Given the description of an element on the screen output the (x, y) to click on. 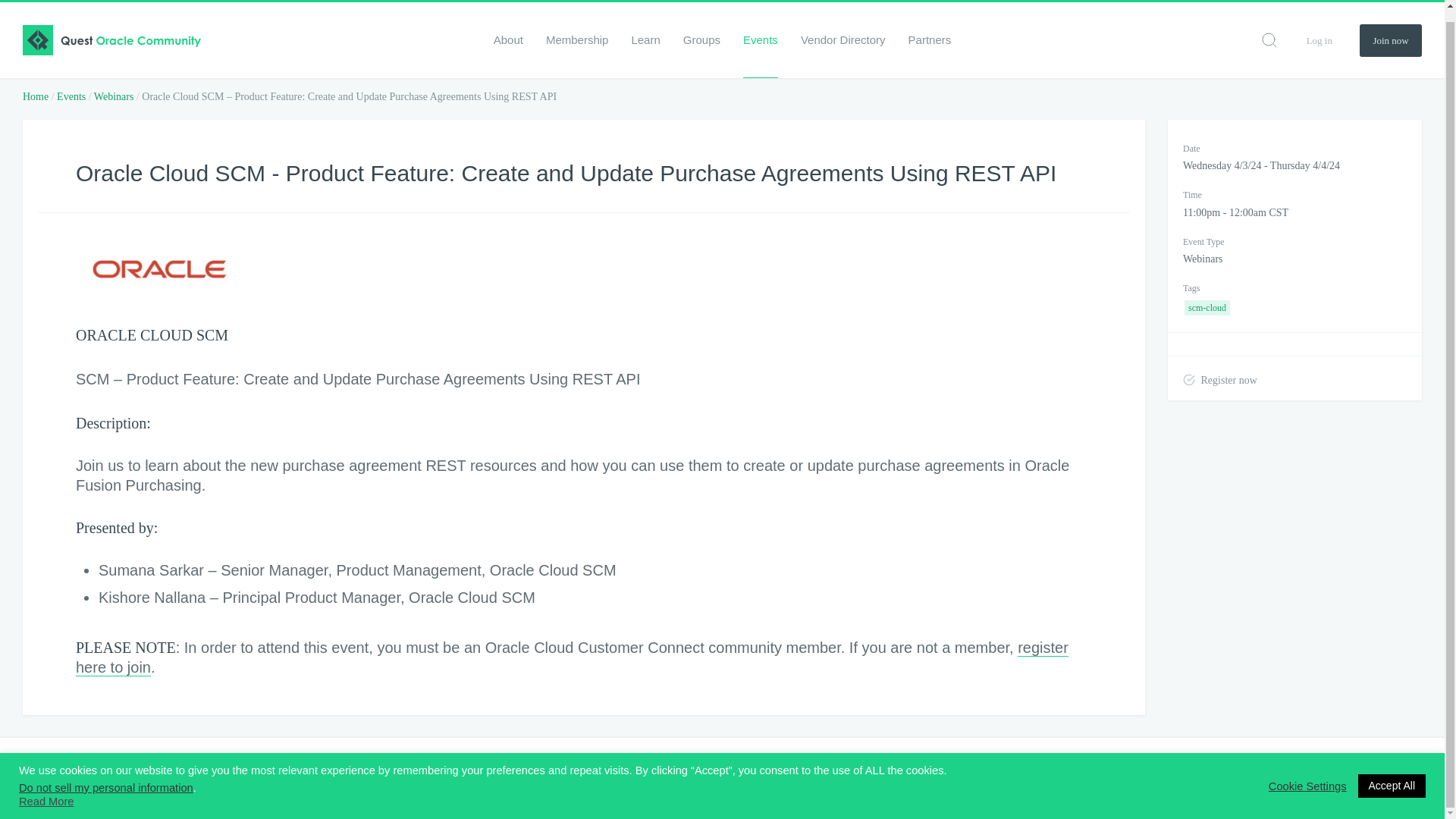
youtube (1414, 779)
Quest Oracle Community (111, 28)
Event Marketing Kit (511, 778)
Webinars (113, 96)
Register now (1219, 378)
register here to join (571, 657)
Contact (668, 778)
Learn (644, 28)
Events (70, 96)
Quest Oracle Community (34, 777)
Membership (577, 28)
DEI Statement (352, 778)
Cookie Settings (1307, 775)
Groups (701, 28)
Home (35, 96)
